Given the description of an element on the screen output the (x, y) to click on. 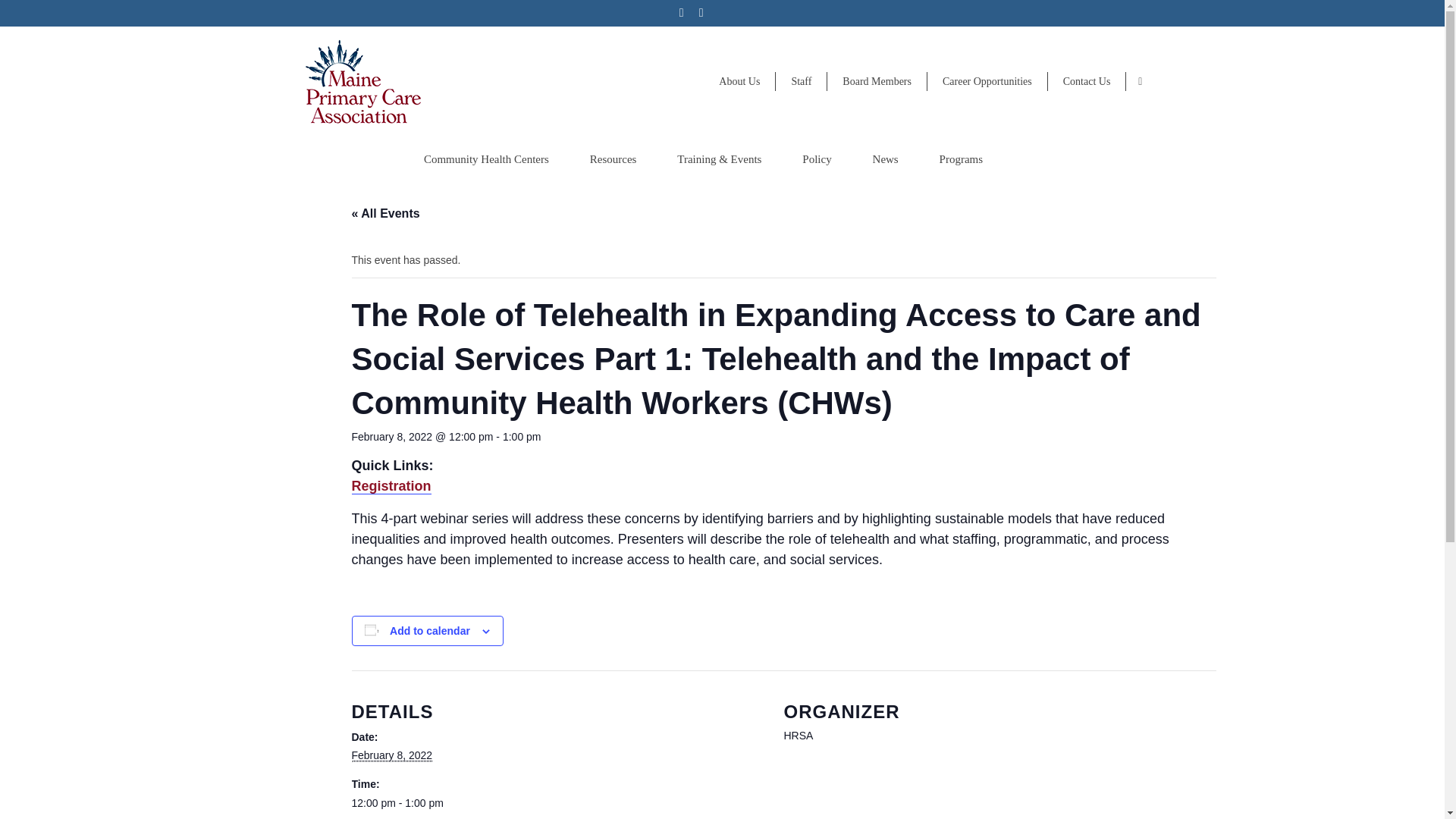
2022-02-08 (392, 755)
2022-02-08 (558, 803)
Search (1139, 81)
Board Members (877, 81)
About Us (739, 81)
Maine Primary Care Association (428, 84)
Staff (801, 81)
Career Opportunities (987, 81)
Contact Us (1087, 81)
